Given the description of an element on the screen output the (x, y) to click on. 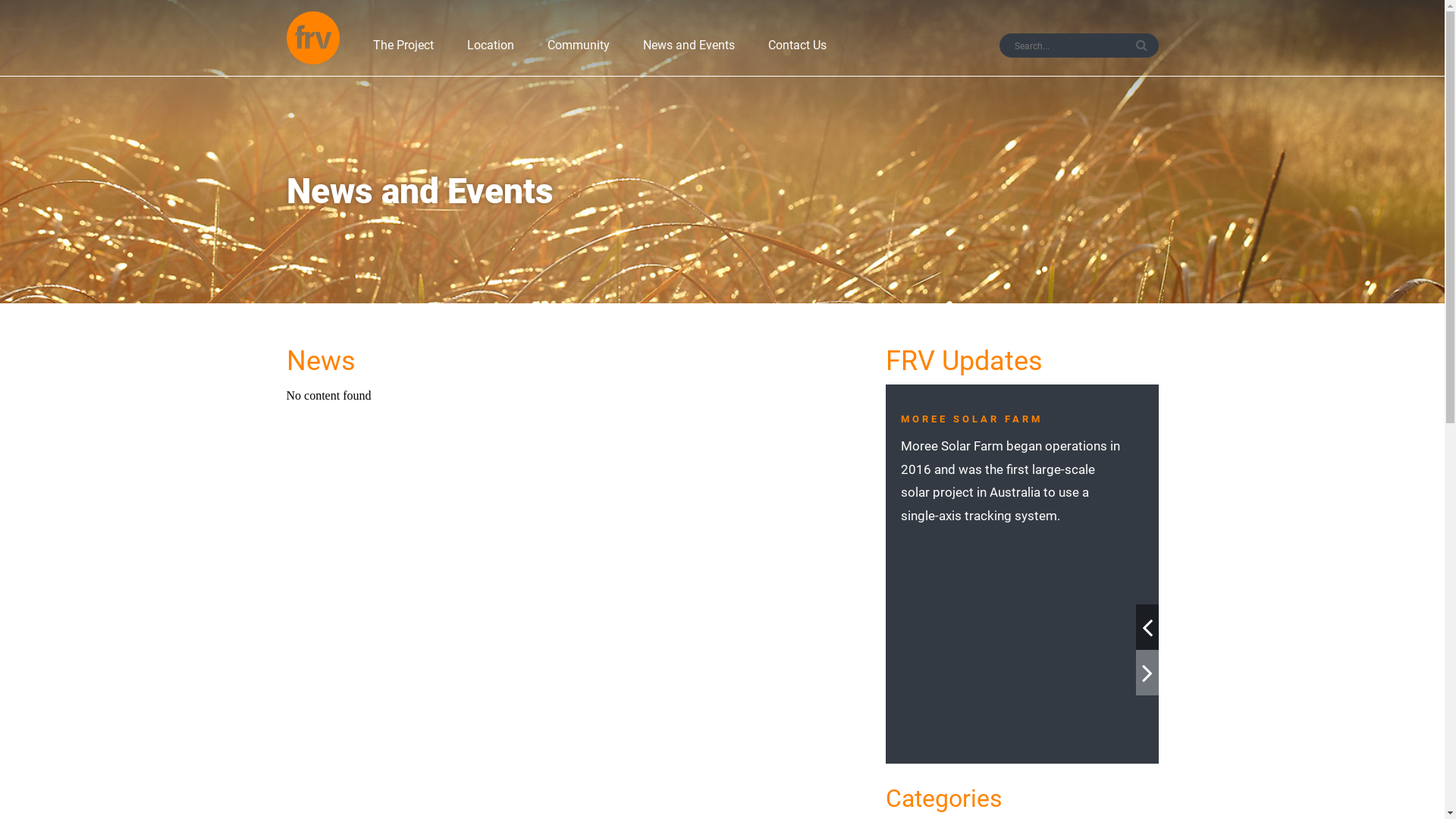
Community Element type: text (578, 53)
News and Events Element type: text (688, 53)
Contact Us Element type: text (796, 53)
The Project Element type: text (402, 53)
Location Element type: text (490, 53)
